Given the description of an element on the screen output the (x, y) to click on. 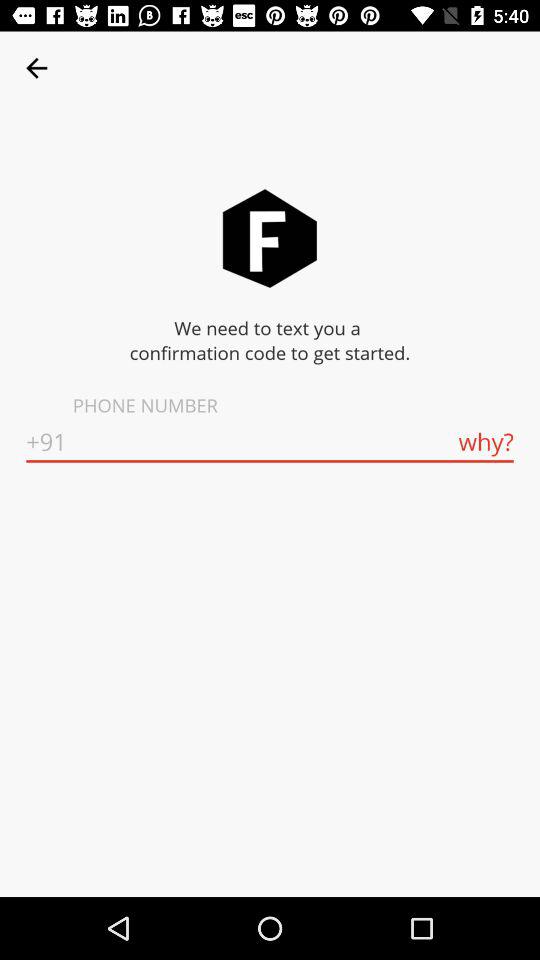
phone number text field (270, 441)
